Given the description of an element on the screen output the (x, y) to click on. 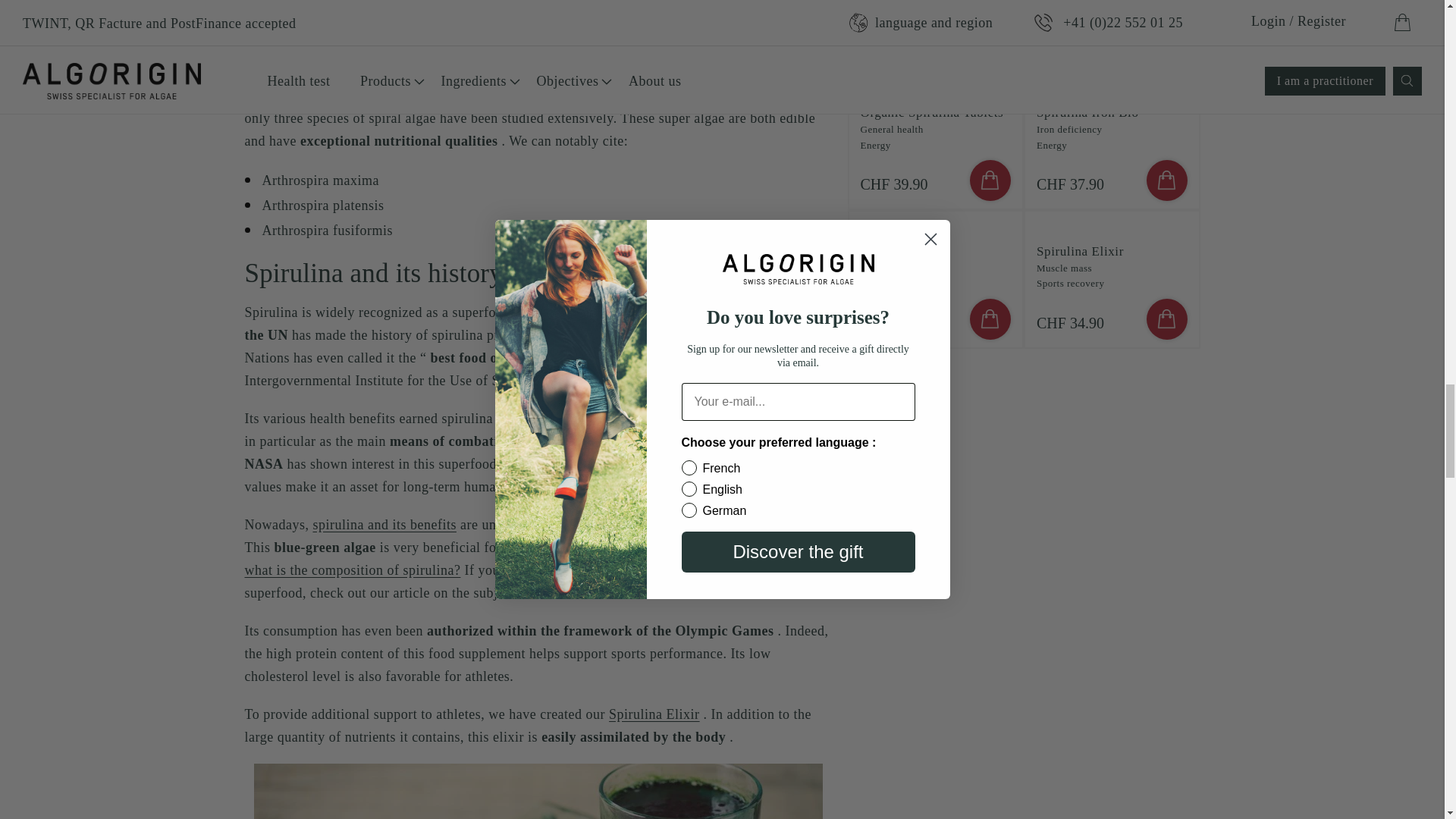
Spirulina Elixir (654, 713)
spirulina and its benefits (384, 524)
what is the composition of spirulina? (352, 570)
